Given the description of an element on the screen output the (x, y) to click on. 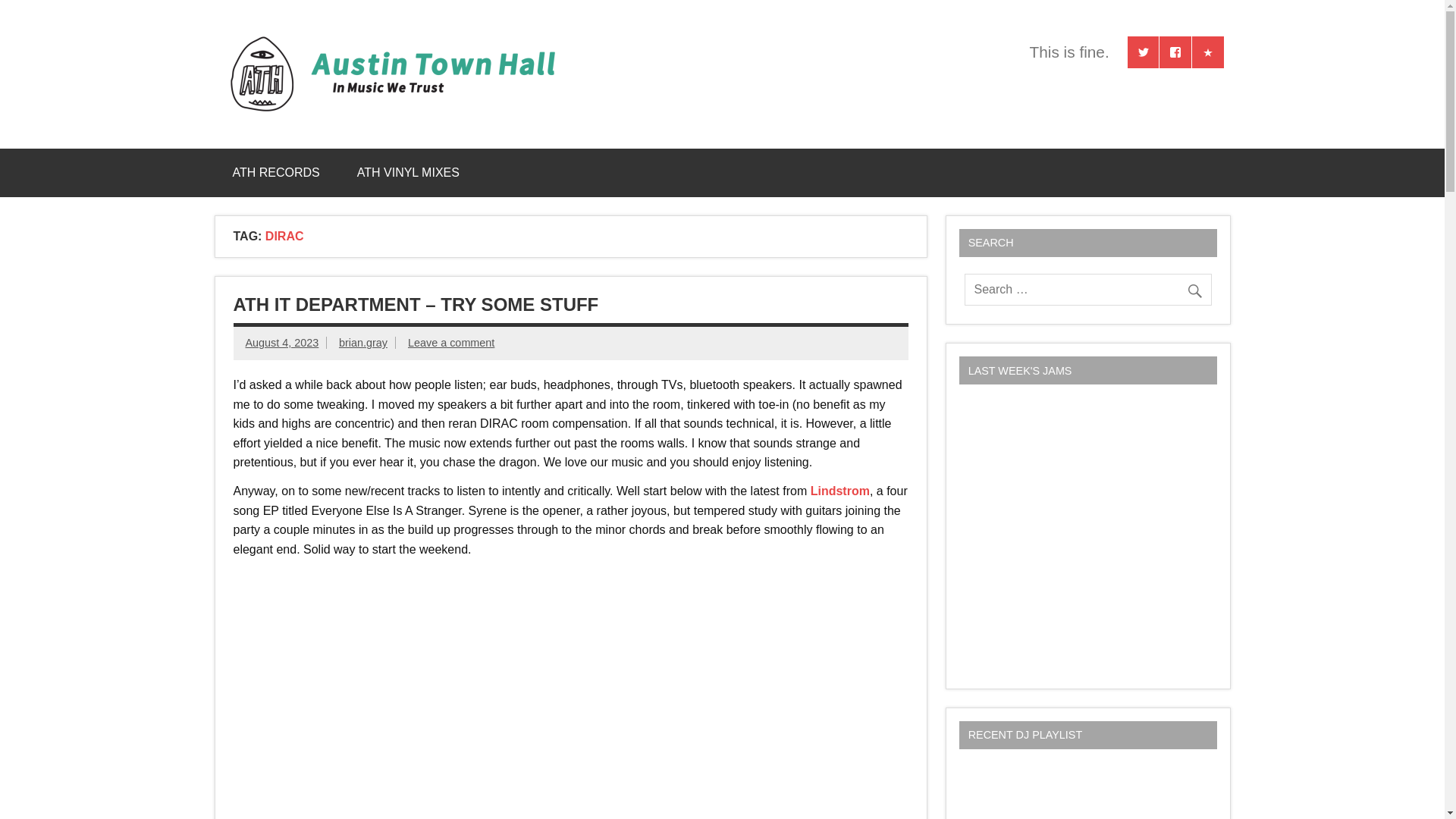
Facebook (1174, 51)
ATH RECORDS (275, 172)
August 4, 2023 (282, 342)
ATH Records (1208, 51)
ATH VINYL MIXES (408, 172)
Leave a comment (451, 342)
Spotify Embed: ATH DJ - Oddwood Emo 5.30.24 (1087, 792)
Lindstrom (839, 490)
View all posts by brian.gray (363, 342)
brian.gray (363, 342)
Austin Town Hall (738, 51)
Twitter (1142, 51)
10:15 am (282, 342)
